Given the description of an element on the screen output the (x, y) to click on. 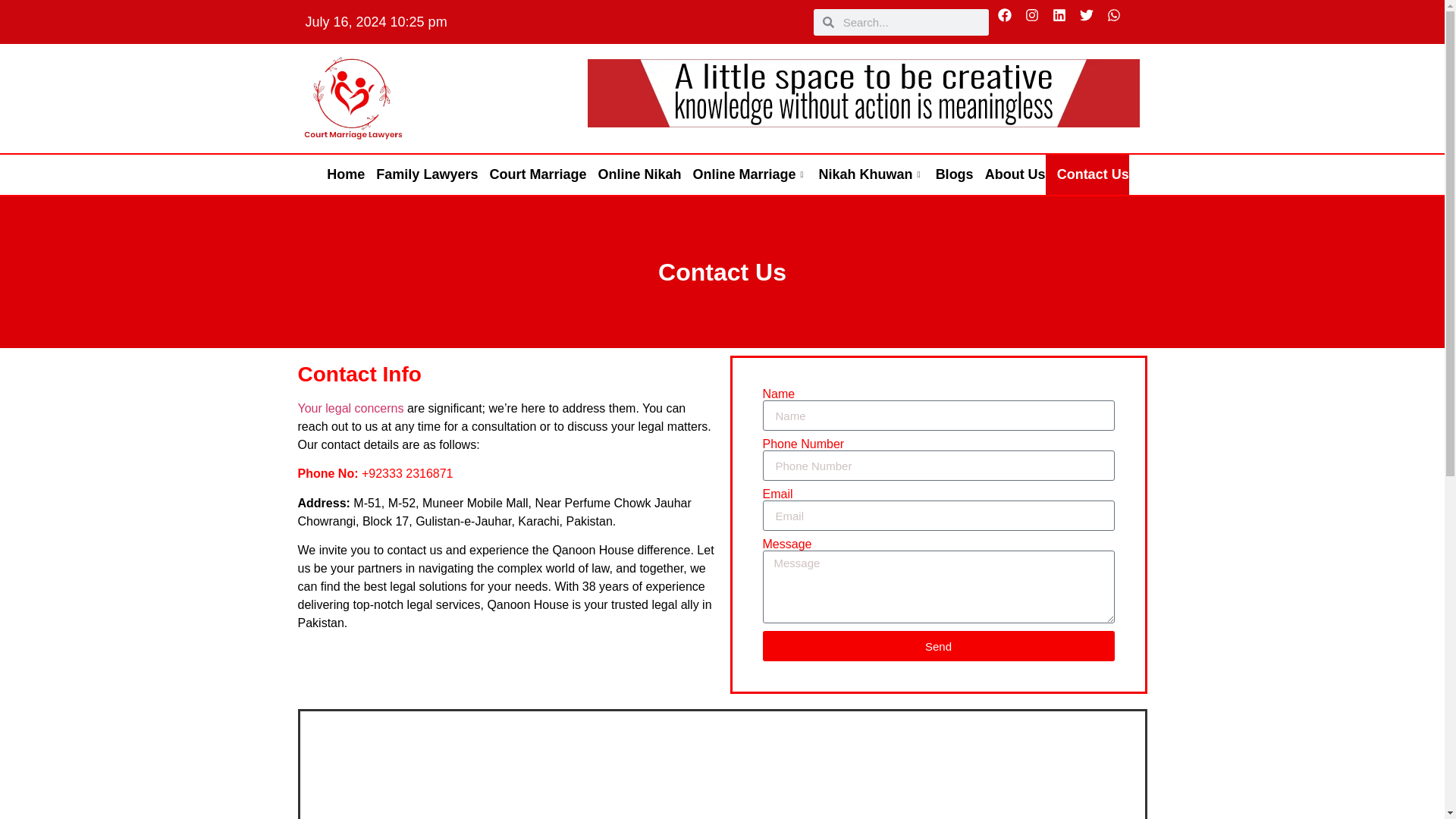
Blogs (949, 174)
About Us (1009, 174)
Nikah Khuwan (866, 174)
Your legal concerns (350, 408)
Contact Us (1087, 174)
Online Nikah (633, 174)
Send (938, 645)
Family Lawyers (421, 174)
Online Marriage (743, 174)
Court Marriage (531, 174)
Home (340, 174)
